Given the description of an element on the screen output the (x, y) to click on. 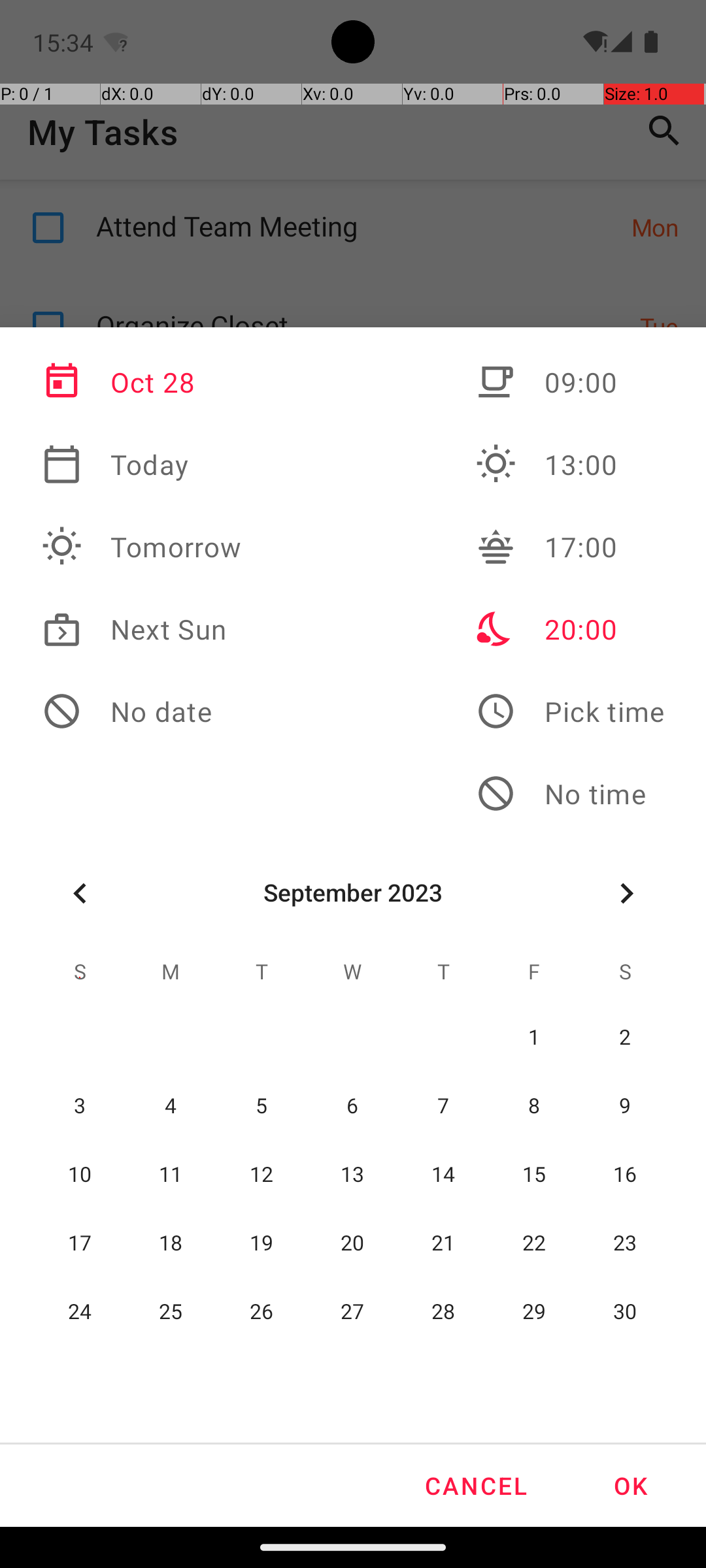
Oct 28 Element type: android.widget.CompoundButton (141, 382)
